Given the description of an element on the screen output the (x, y) to click on. 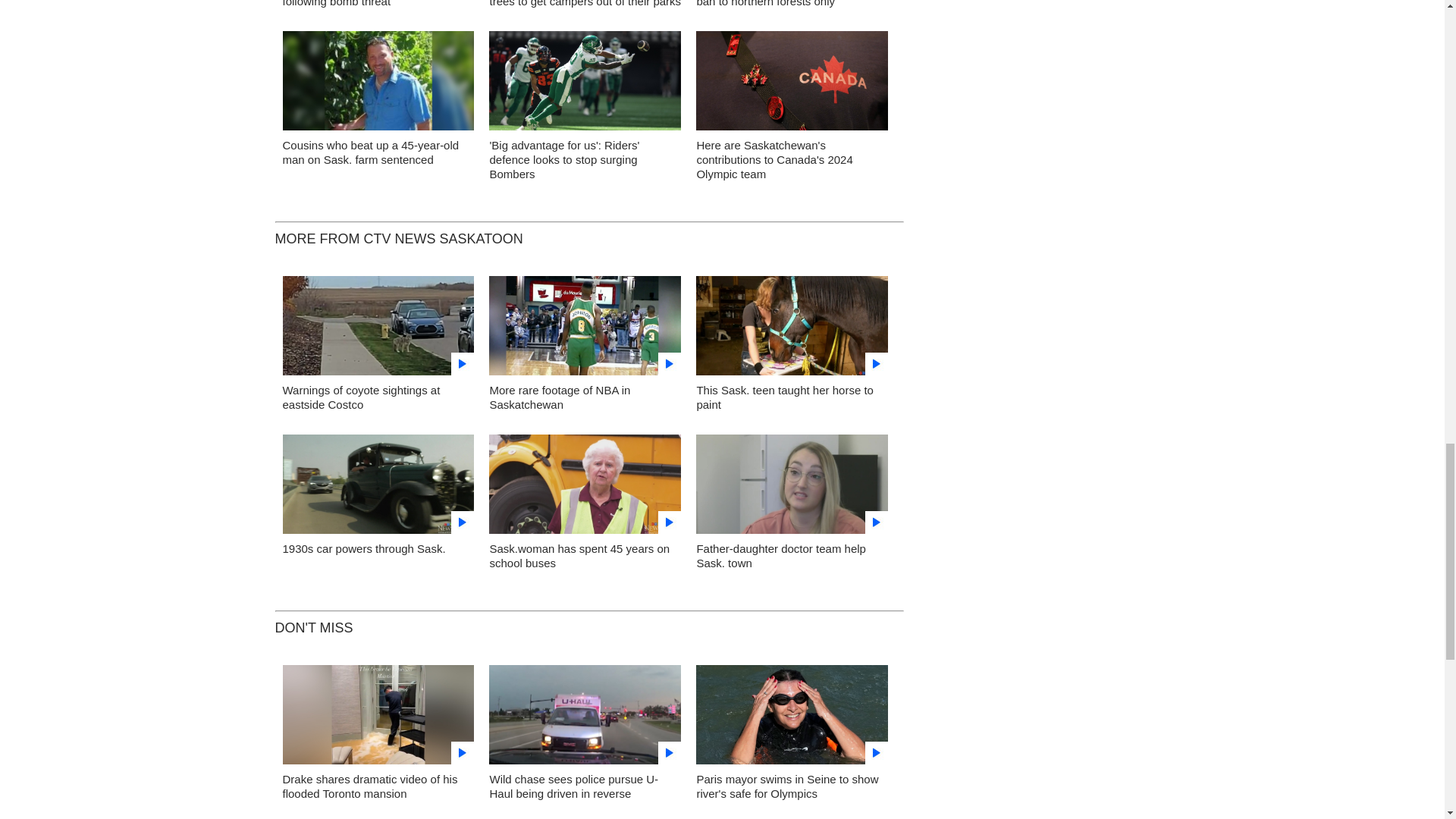
Saskatoon hospitals locked down following bomb threat (365, 3)
Rolan Milligan Jr. (585, 84)
Christopher Hawkins (378, 84)
